Given the description of an element on the screen output the (x, y) to click on. 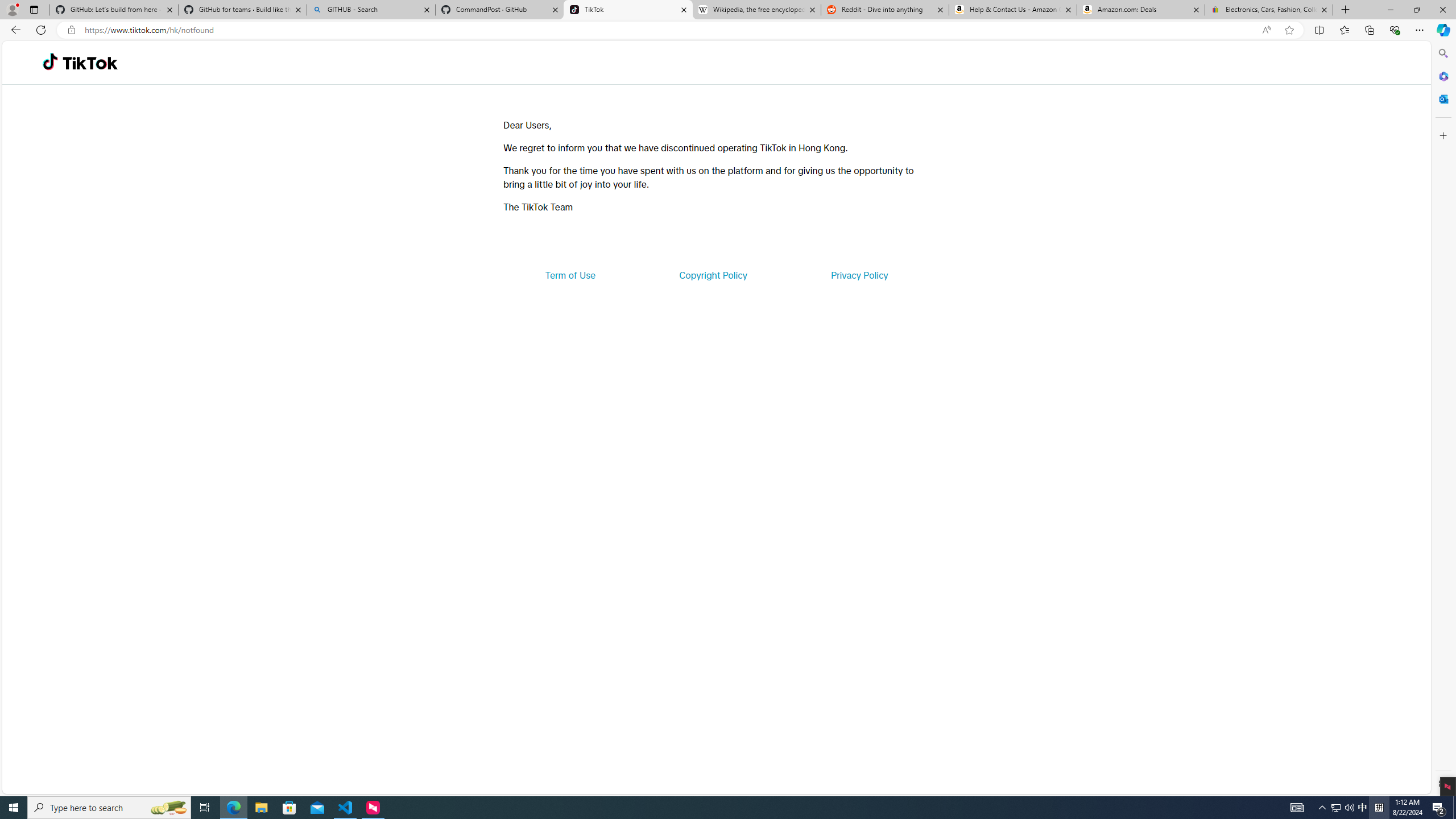
Privacy Policy (858, 274)
Amazon.com: Deals (1140, 9)
Term of Use (569, 274)
